Given the description of an element on the screen output the (x, y) to click on. 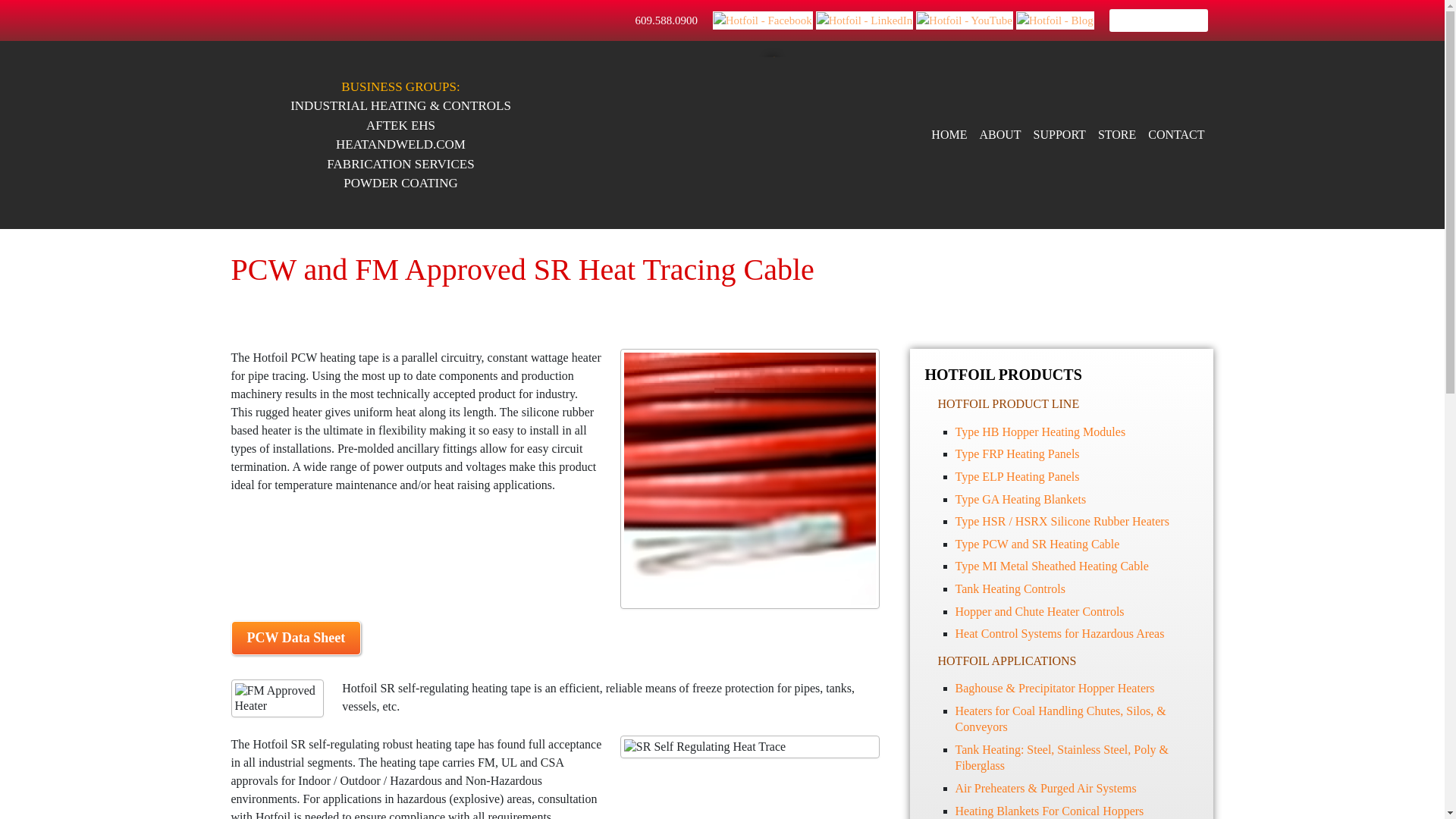
Type MI Metal Sheathed Heating Cable (1051, 565)
Hotfoil - Blog (1055, 19)
Tank Heating Controls (1010, 588)
Type FRP Heating Panels (1017, 453)
Type ELP Heating Panels (1017, 476)
HEATANDWELD.COM (400, 144)
HOME (948, 135)
CONTACT information for Hotfoils-EHS (1176, 135)
Hotfoil - Facebook (762, 19)
ABOUT (999, 135)
Type ELP Heating Panels (1017, 476)
Heat Control Systems for Hazardous Areas (1059, 633)
Type MI Metal Sheathed Heating Cable (1051, 565)
POWDER COATING (400, 183)
FABRICATION SERVICES (400, 164)
